Given the description of an element on the screen output the (x, y) to click on. 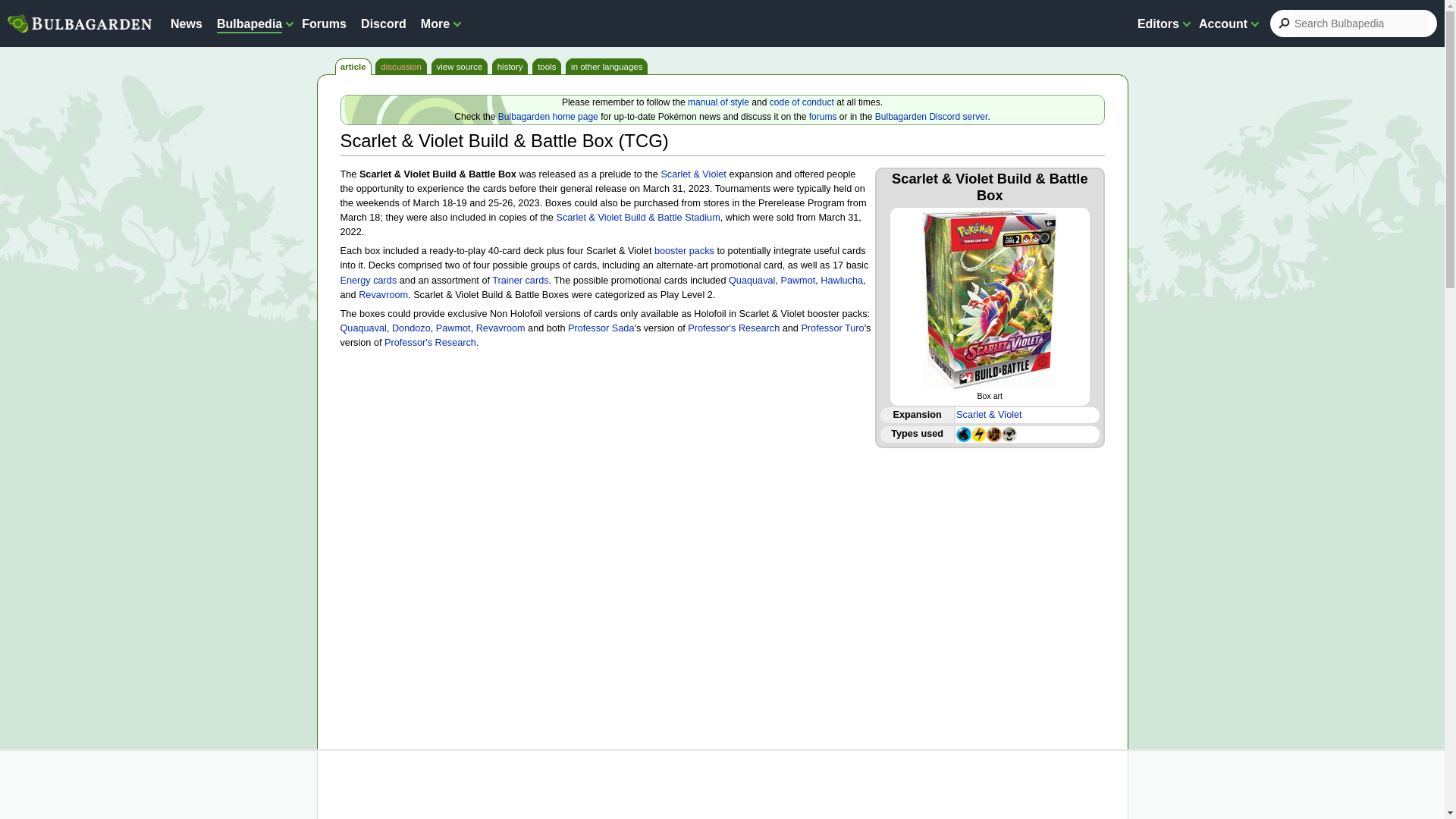
Bulbapedia:Manual of style (718, 102)
Water (963, 433)
Fighting (994, 433)
Metal (1008, 433)
Bulbapedia (249, 22)
Lightning (979, 433)
Bulbapedia:Code of conduct (802, 102)
